Given the description of an element on the screen output the (x, y) to click on. 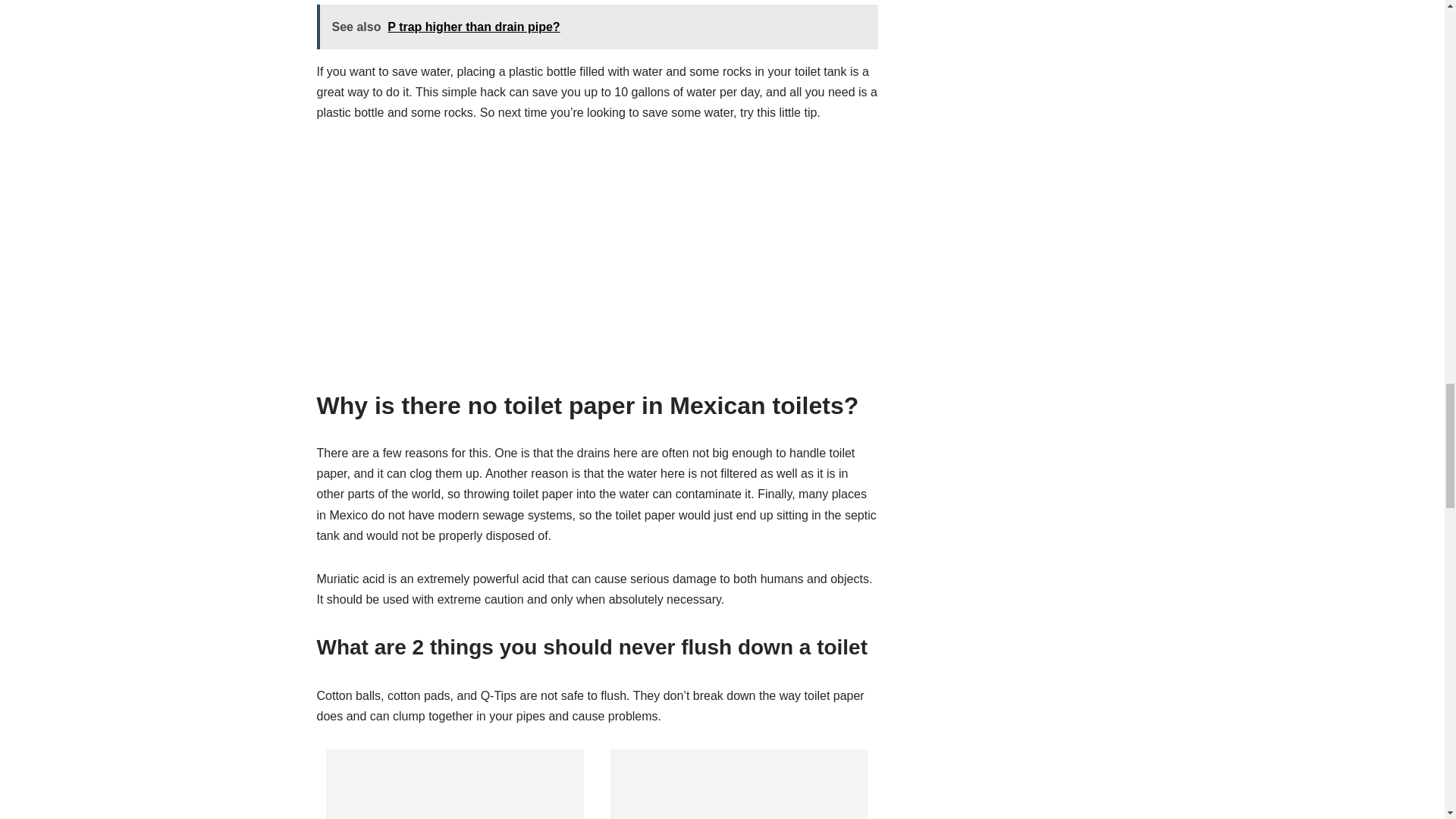
YouTube video player (529, 241)
See also  P trap higher than drain pipe? (597, 26)
